Given the description of an element on the screen output the (x, y) to click on. 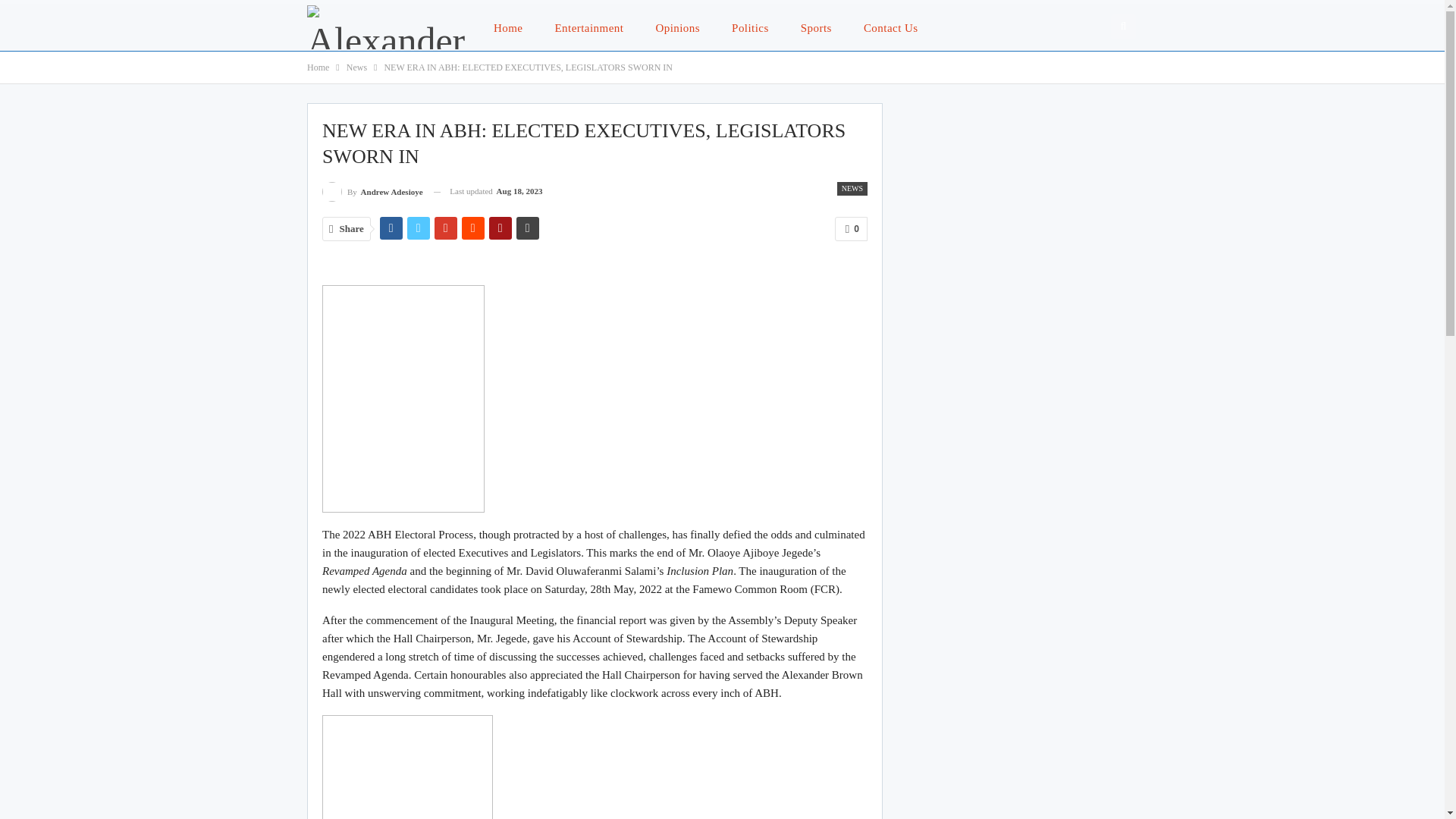
Politics (749, 27)
Sports (816, 27)
NEWS (852, 188)
Home (318, 67)
Contact Us (890, 27)
Home (508, 27)
Opinions (677, 27)
0 (850, 228)
Browse Author Articles (372, 190)
By Andrew Adesioye (372, 190)
